Given the description of an element on the screen output the (x, y) to click on. 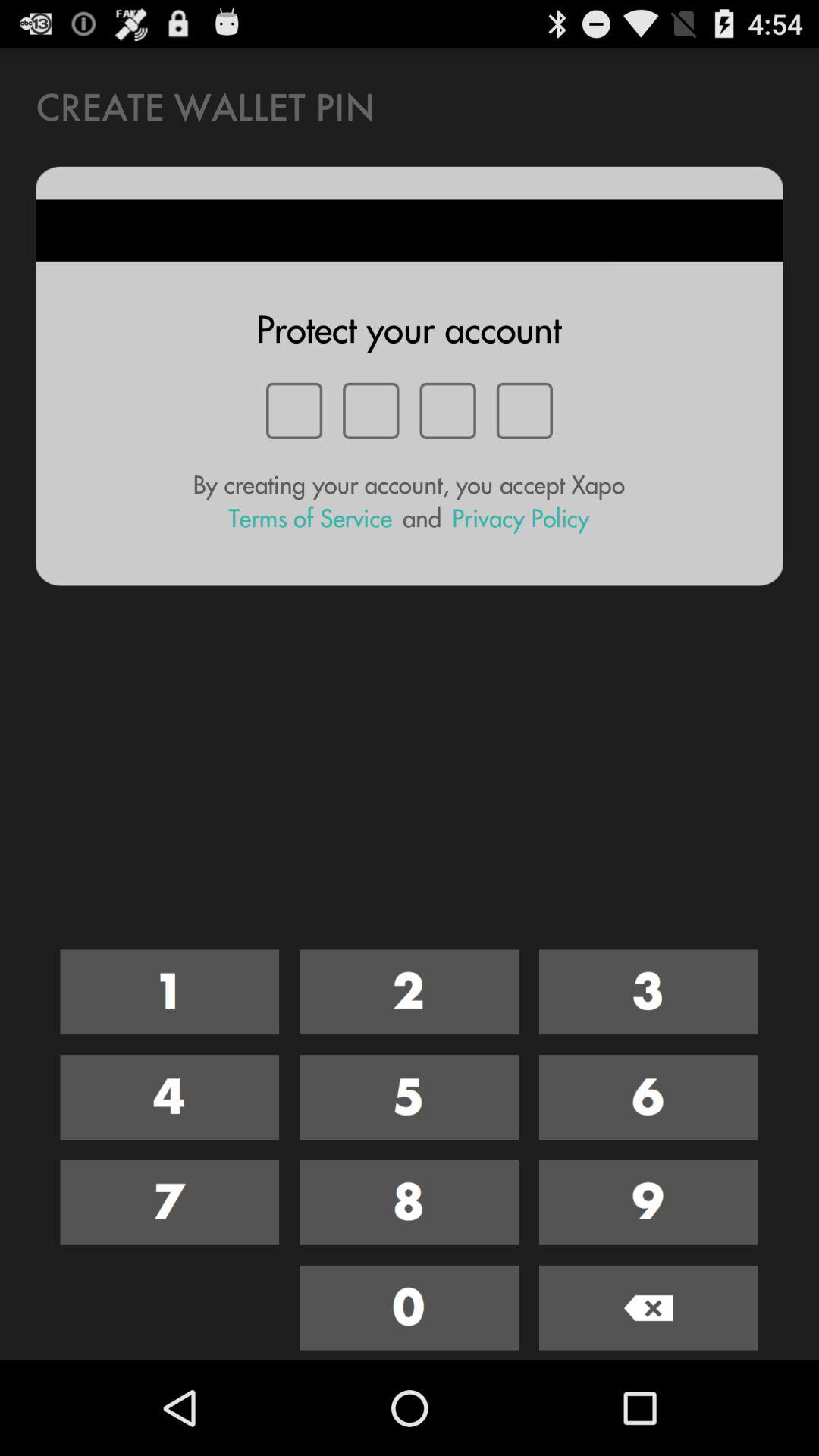
create four digit pin (408, 1097)
